Given the description of an element on the screen output the (x, y) to click on. 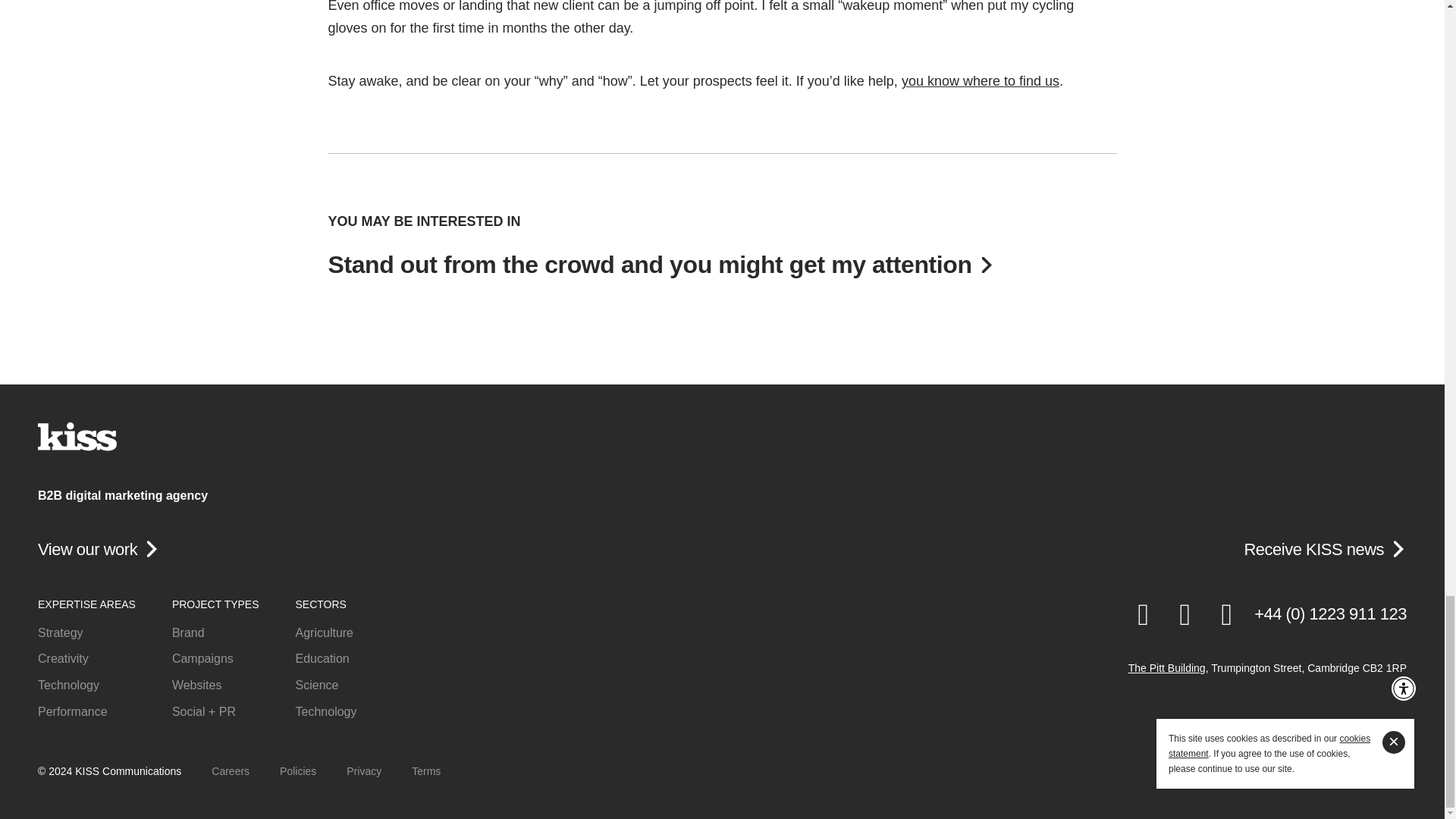
Stand out from the crowd and you might get my attention (722, 261)
View our work (86, 548)
Receive KISS news (1313, 548)
Agriculture (325, 633)
Science (325, 685)
Education (325, 659)
you know where to find us (980, 80)
Websites (215, 685)
Technology (86, 685)
Campaigns (215, 659)
Performance (86, 711)
Strategy (86, 633)
Brand (215, 633)
KISS Communications (76, 436)
